Given the description of an element on the screen output the (x, y) to click on. 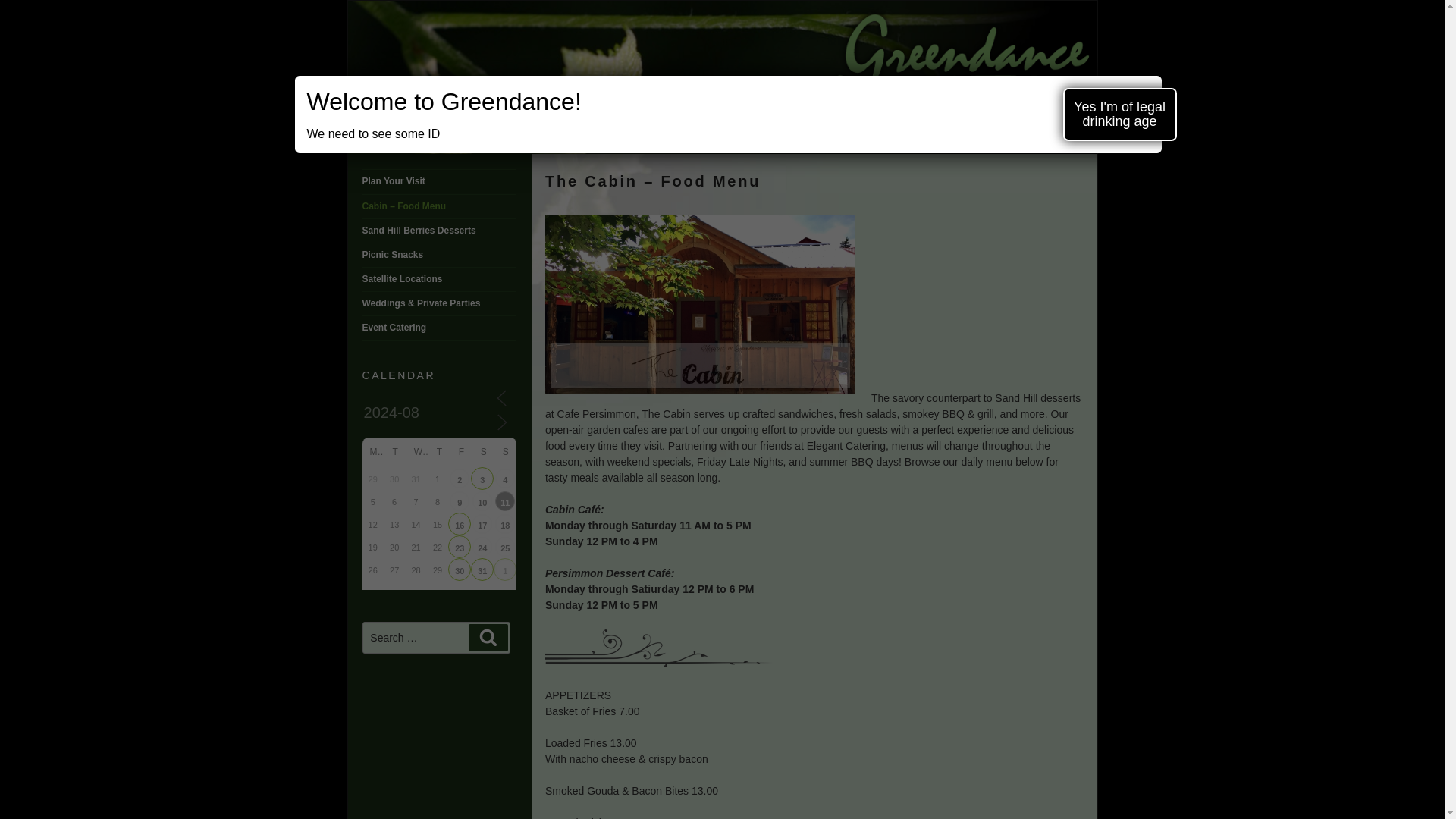
Picnic Snacks (392, 254)
Wally Gingers Orchestra (481, 501)
GREENDANCE WINERY (526, 25)
Sand Hill Berries Desserts (419, 230)
GALLERY (888, 137)
CONTACT (965, 137)
Event Catering (394, 327)
Fuzz Hout (458, 546)
Plan Your Visit (393, 181)
EVENTS (515, 137)
